Given the description of an element on the screen output the (x, y) to click on. 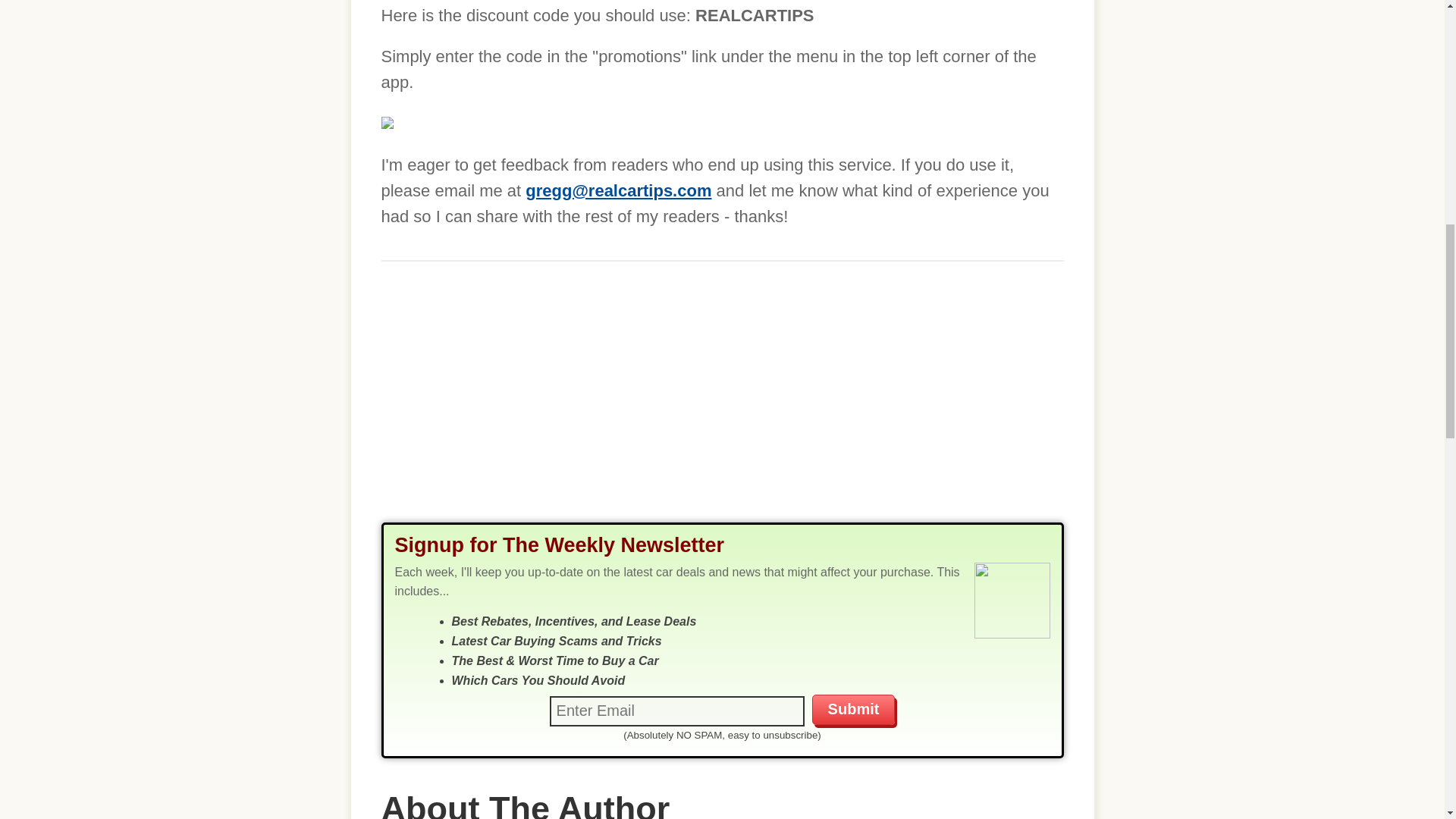
Submit (853, 709)
Submit (853, 709)
